Given the description of an element on the screen output the (x, y) to click on. 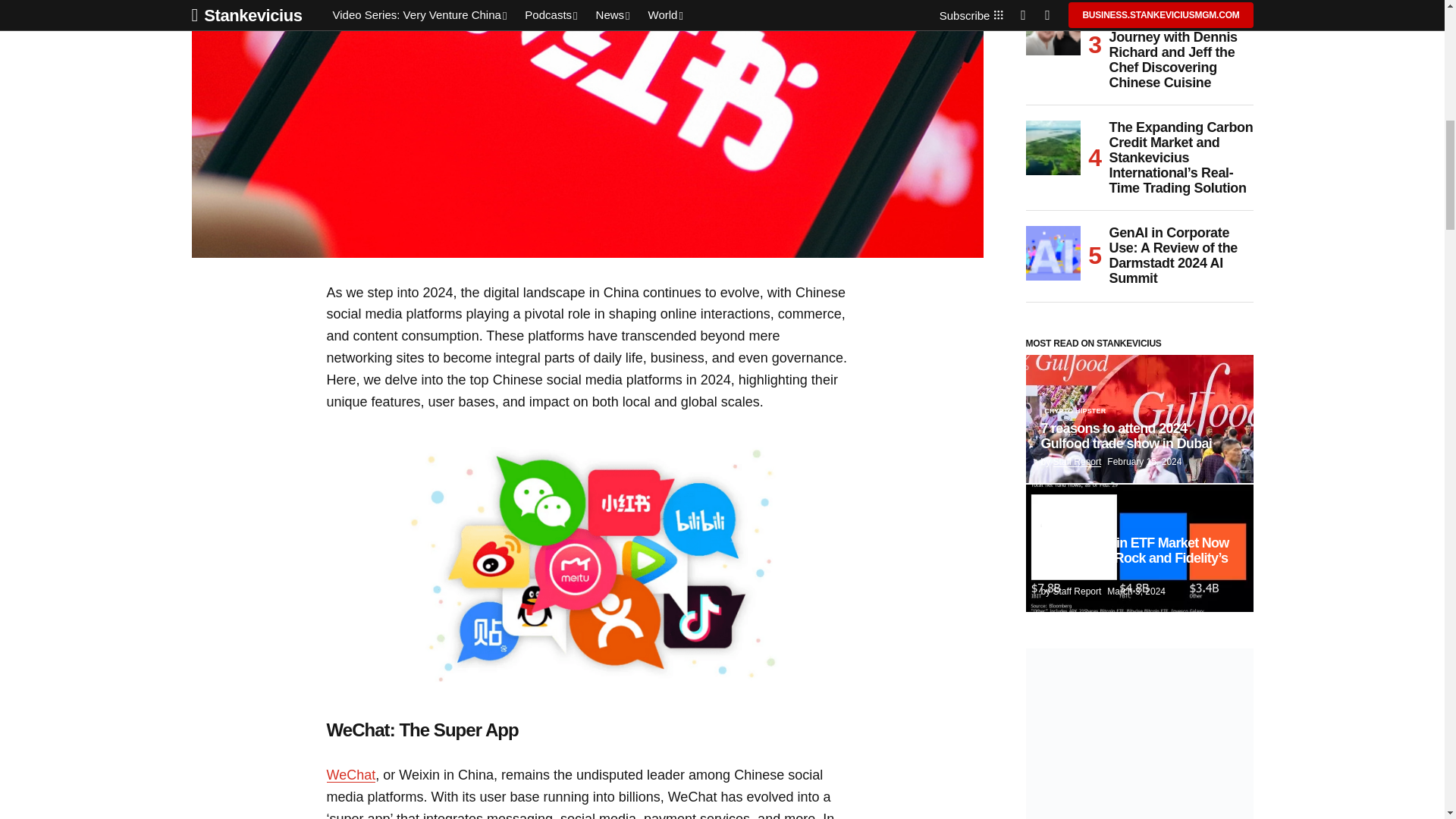
WeChat (350, 774)
